Given the description of an element on the screen output the (x, y) to click on. 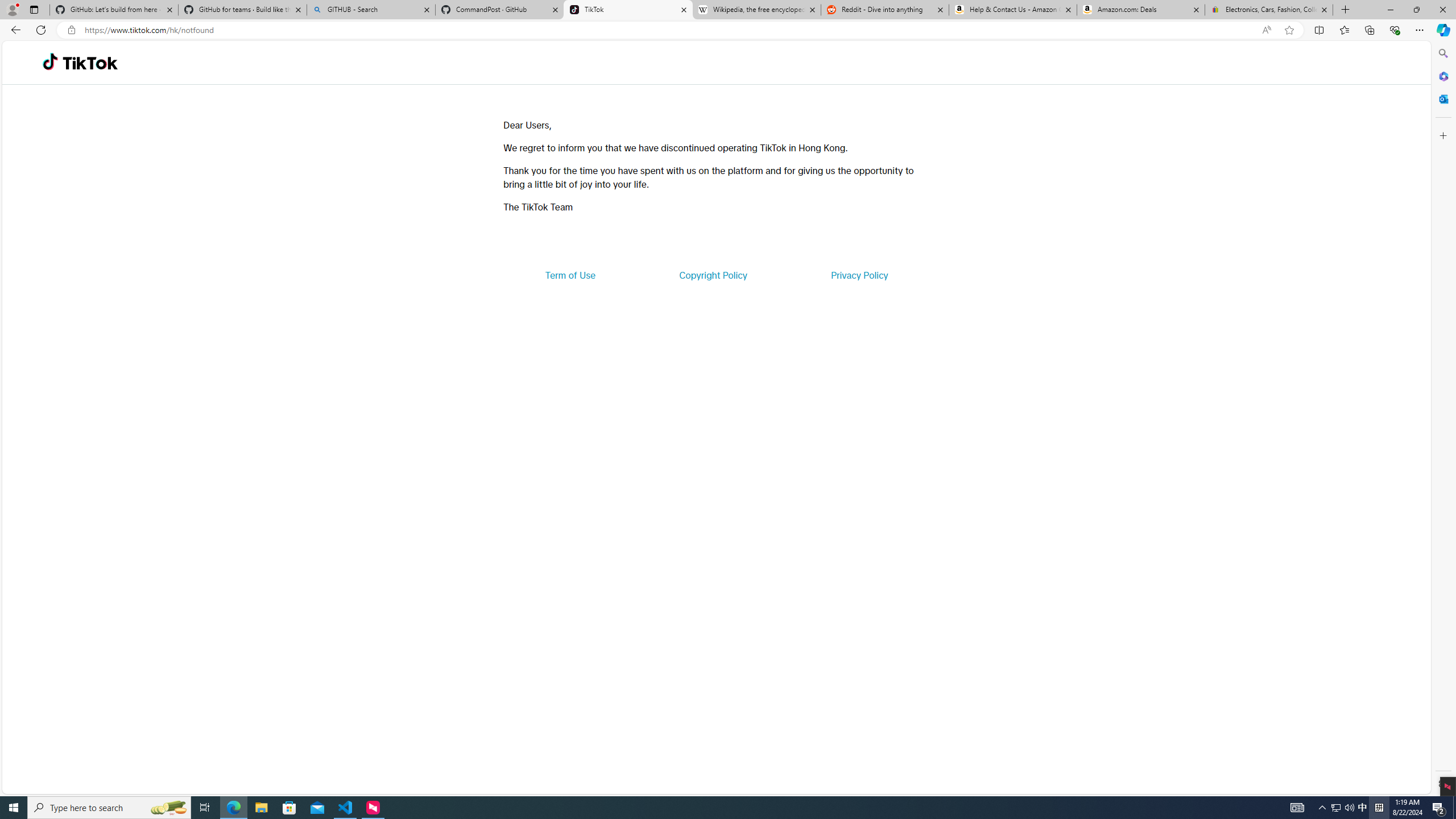
Term of Use (569, 274)
Privacy Policy (858, 274)
Amazon.com: Deals (1140, 9)
Copyright Policy (712, 274)
